Given the description of an element on the screen output the (x, y) to click on. 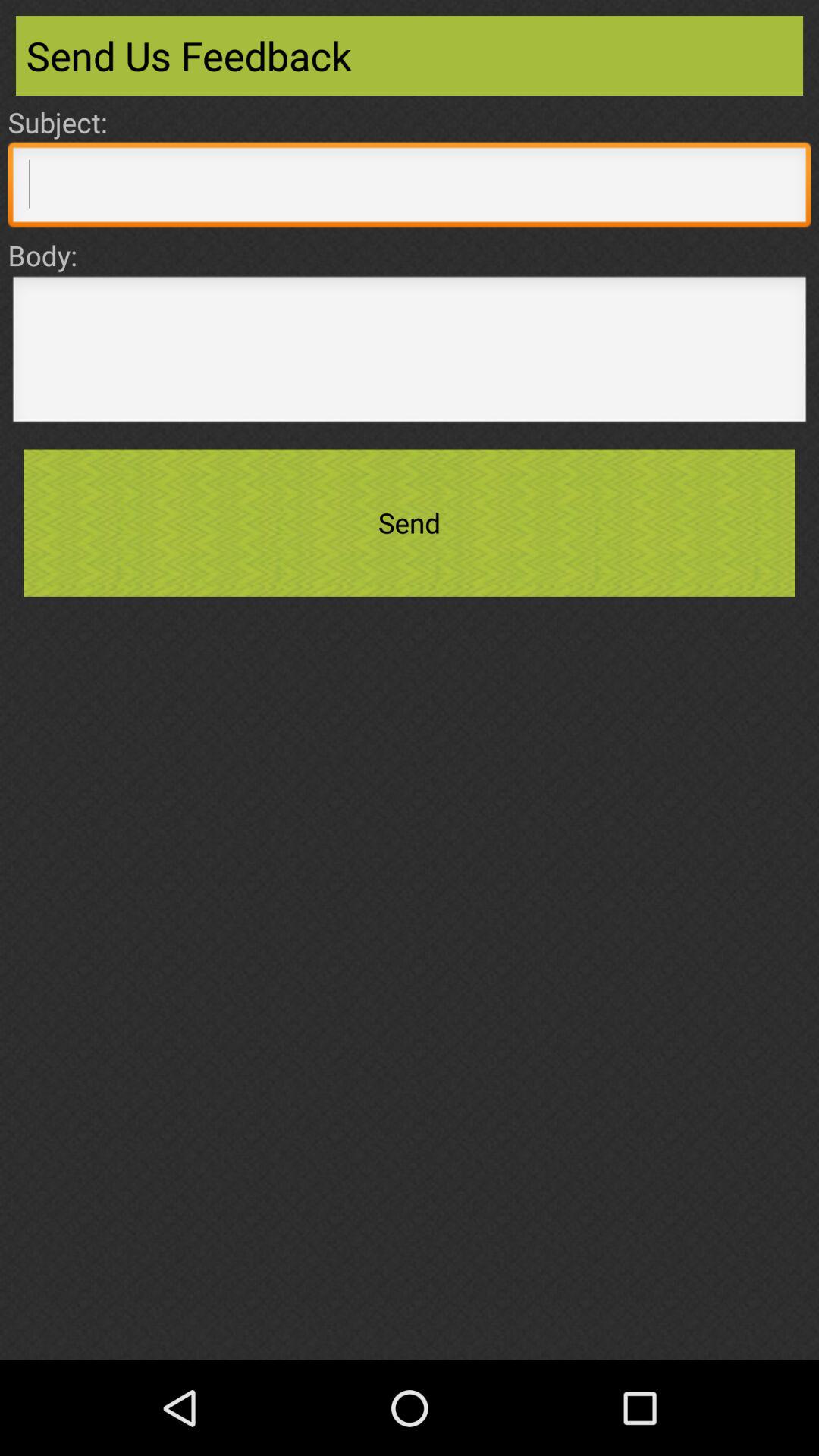
input text (409, 353)
